Given the description of an element on the screen output the (x, y) to click on. 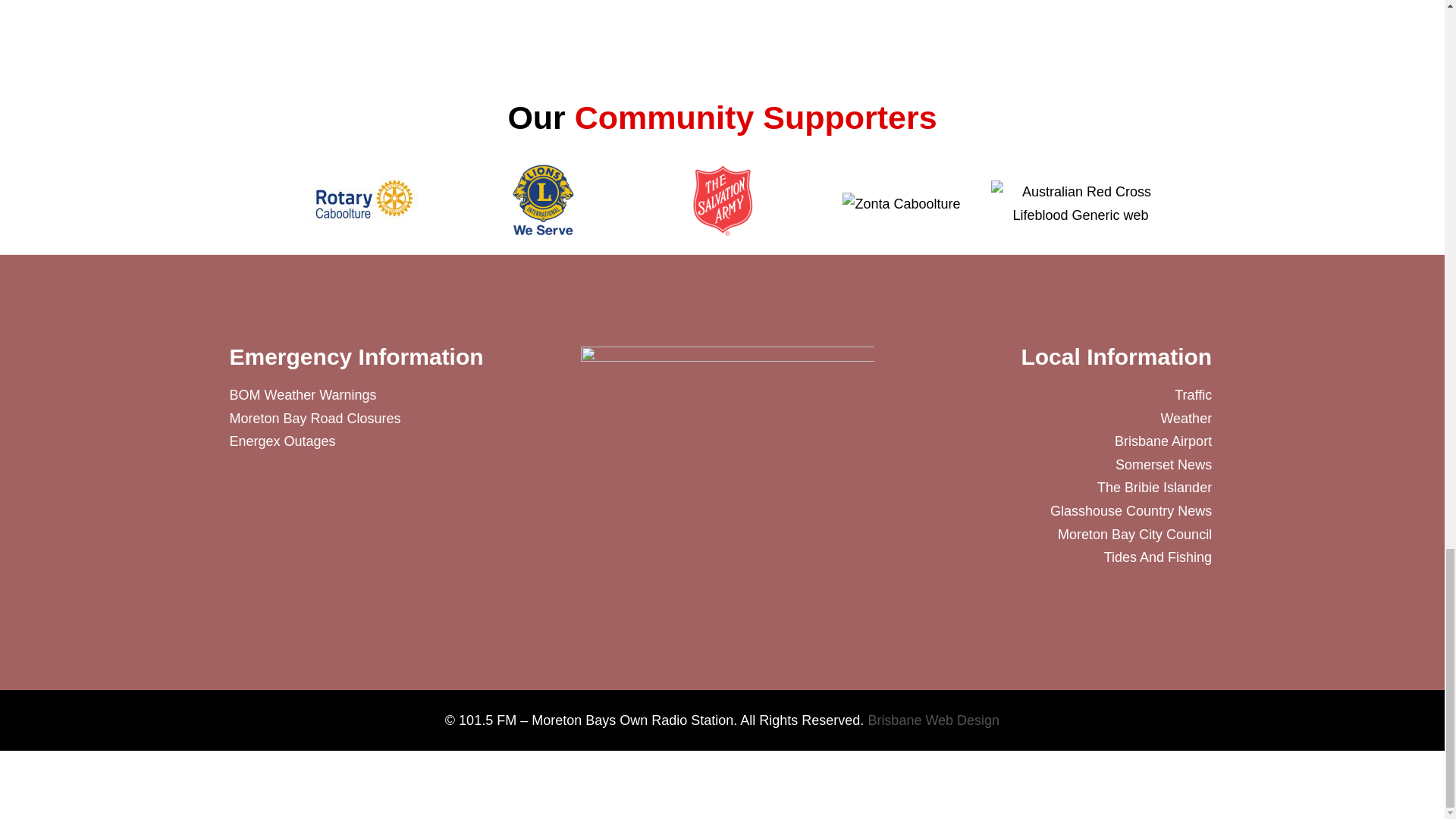
Glasshouse Country News (1029, 511)
BOM Weather Warnings (392, 395)
Brisbane Airport (1029, 441)
Weather (1029, 418)
Somerset News (1029, 464)
Moreton Bay Road Closures (392, 418)
Energex Outages (392, 441)
Traffic (1029, 395)
The Bribie Islander (1029, 487)
